Given the description of an element on the screen output the (x, y) to click on. 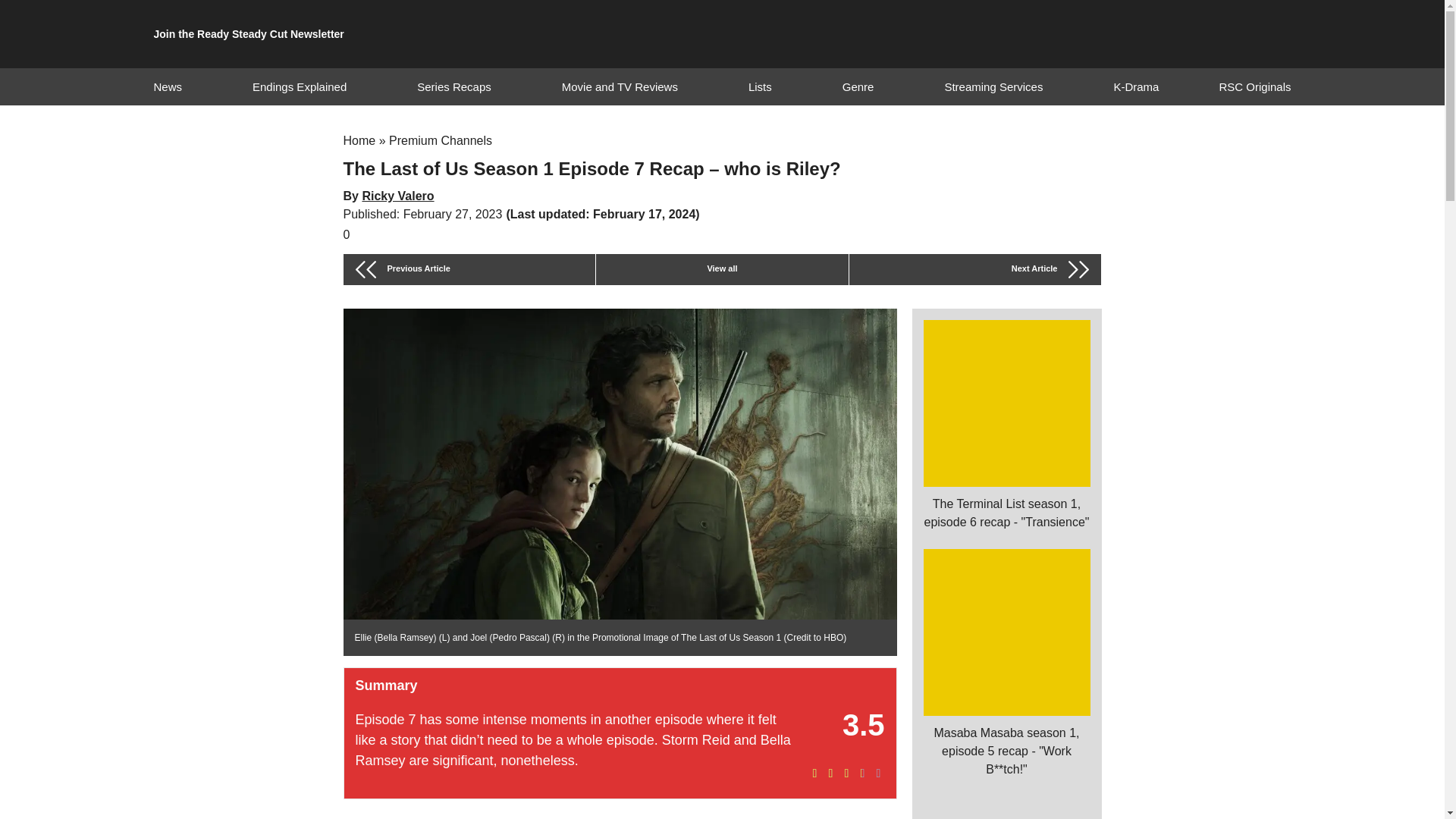
K-Drama (1135, 86)
Join the Ready Steady Cut Newsletter (247, 33)
Endings Explained (298, 86)
Series Recaps (454, 86)
RSC Originals (1254, 86)
Streaming Services (992, 86)
Movie and TV Reviews (620, 86)
